Given the description of an element on the screen output the (x, y) to click on. 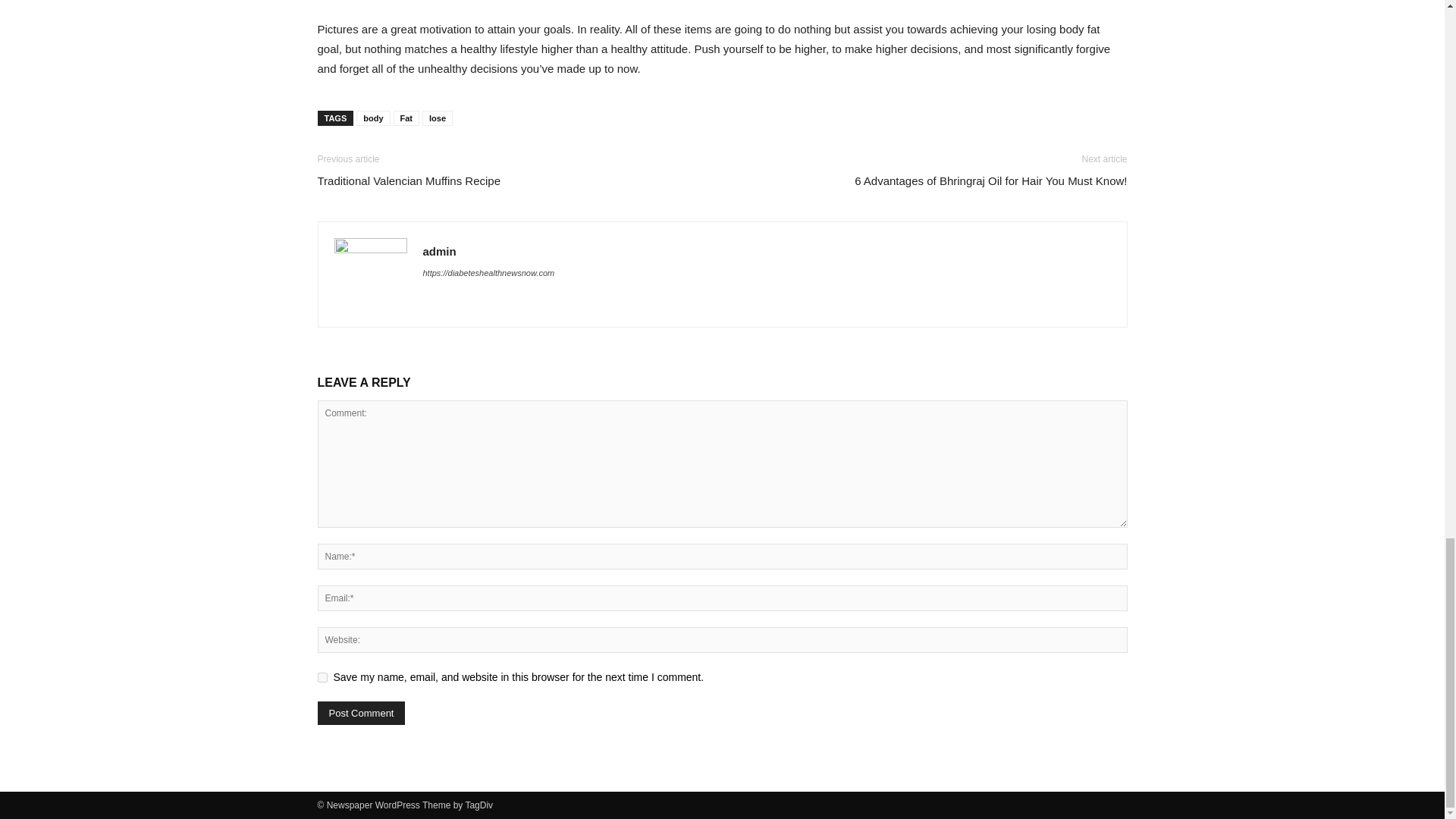
Post Comment (360, 712)
Fat (406, 118)
yes (321, 677)
6 Advantages of Bhringraj Oil for Hair You Must Know! (990, 180)
Post Comment (360, 712)
lose (437, 118)
body (373, 118)
Traditional Valencian Muffins Recipe (408, 180)
admin (440, 250)
